Given the description of an element on the screen output the (x, y) to click on. 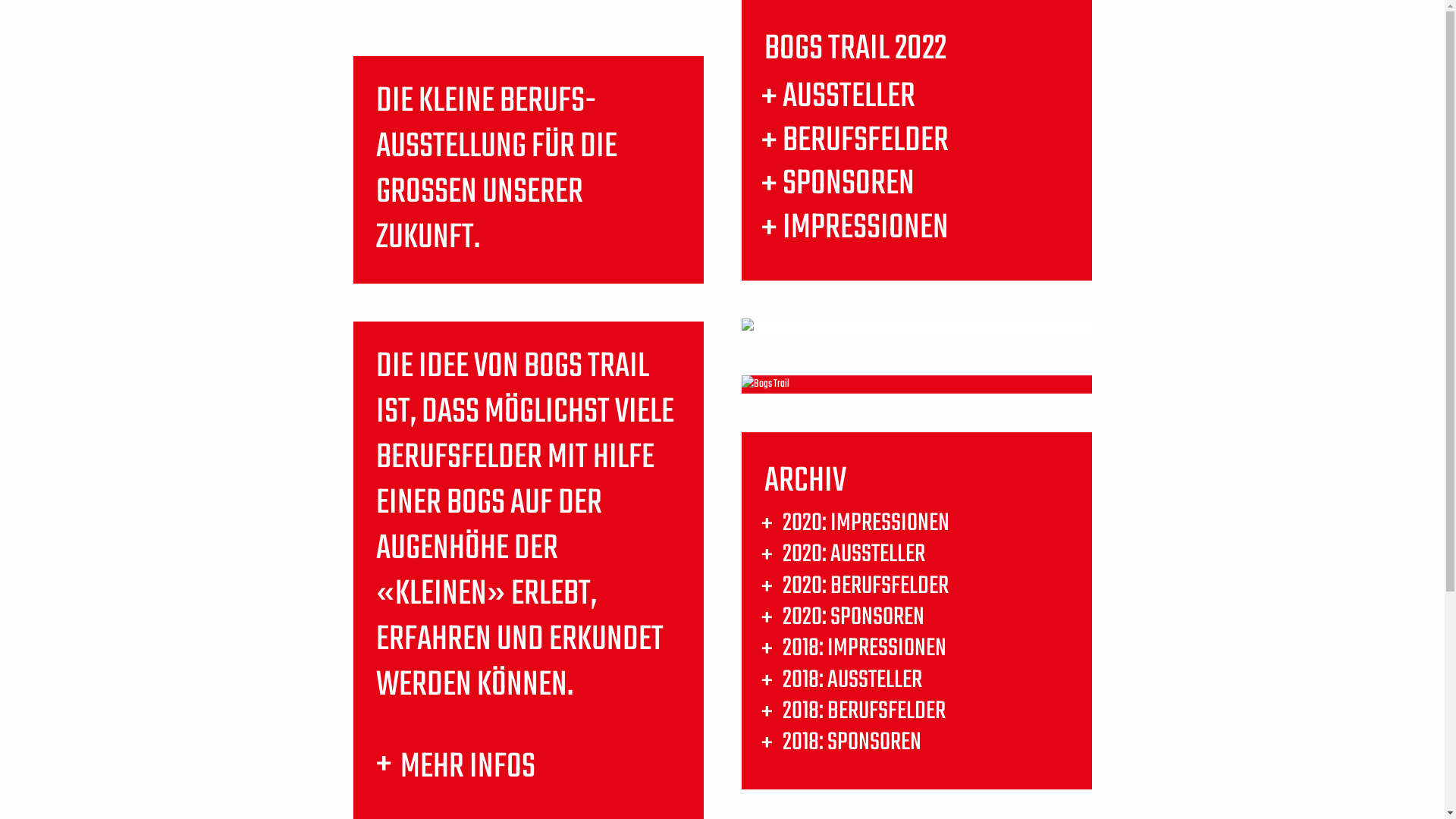
2020: BERUFSFELDER Element type: text (865, 586)
2018: IMPRESSIONEN Element type: text (864, 648)
MEHR INFOS Element type: text (467, 767)
2018: SPONSOREN Element type: text (851, 742)
SPONSOREN Element type: text (848, 183)
BERUFSFELDER Element type: text (865, 140)
IMPRESSIONEN Element type: text (865, 227)
2018: BERUFSFELDER Element type: text (863, 711)
2020: SPONSOREN Element type: text (853, 617)
2020: IMPRESSIONEN Element type: text (865, 523)
